Given the description of an element on the screen output the (x, y) to click on. 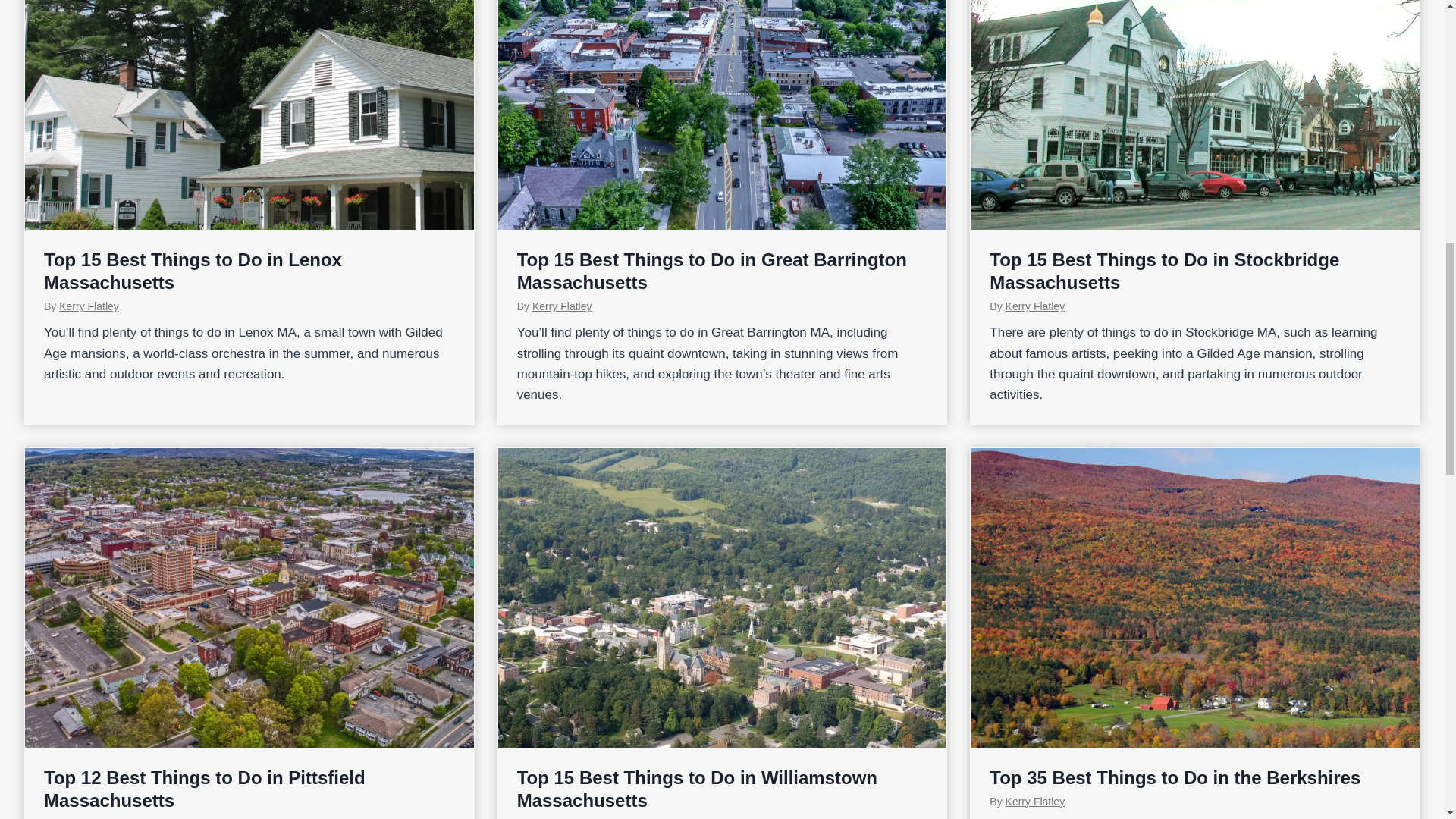
Top 15 Best Things to Do in Great Barrington Massachusetts (722, 271)
Kerry Flatley (1035, 306)
Top 12 Best Things to Do in Pittsfield Massachusetts (248, 789)
Kerry Flatley (562, 306)
Top 35 Best Things to Do in the Berkshires (1195, 777)
Kerry Flatley (1035, 801)
Kerry Flatley (89, 818)
Top 15 Best Things to Do in Lenox Massachusetts (248, 271)
Top 15 Best Things to Do in Stockbridge Massachusetts (1195, 271)
Top 15 Best Things to Do in Williamstown Massachusetts (722, 789)
